Given the description of an element on the screen output the (x, y) to click on. 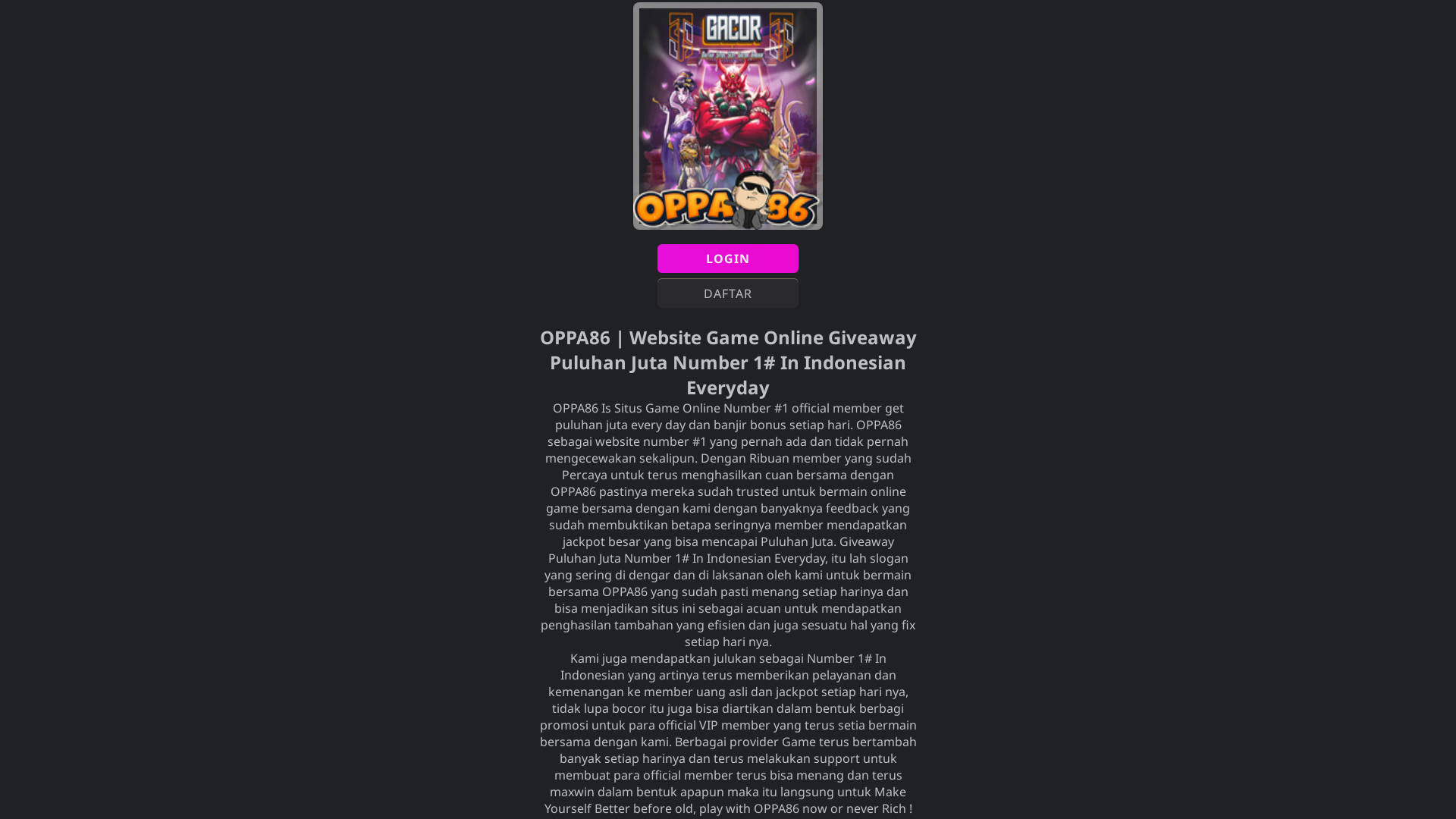
LOGIN Element type: text (727, 258)
DAFTAR Element type: text (727, 293)
OPPA86 Element type: text (877, 424)
